Given the description of an element on the screen output the (x, y) to click on. 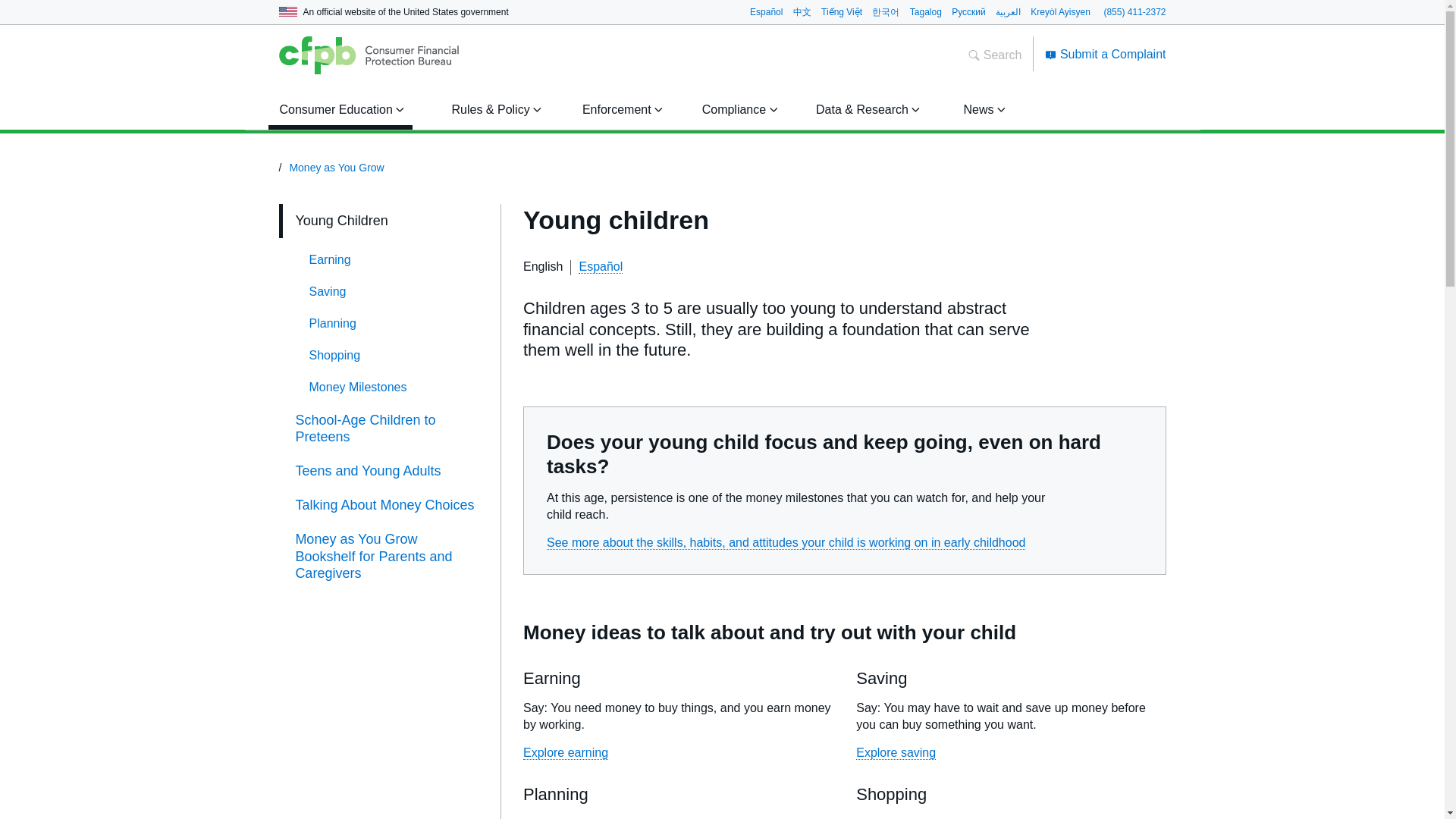
Search (995, 54)
Consumer Education (339, 109)
Tagalog (926, 10)
Submit a Complaint (1105, 52)
